Given the description of an element on the screen output the (x, y) to click on. 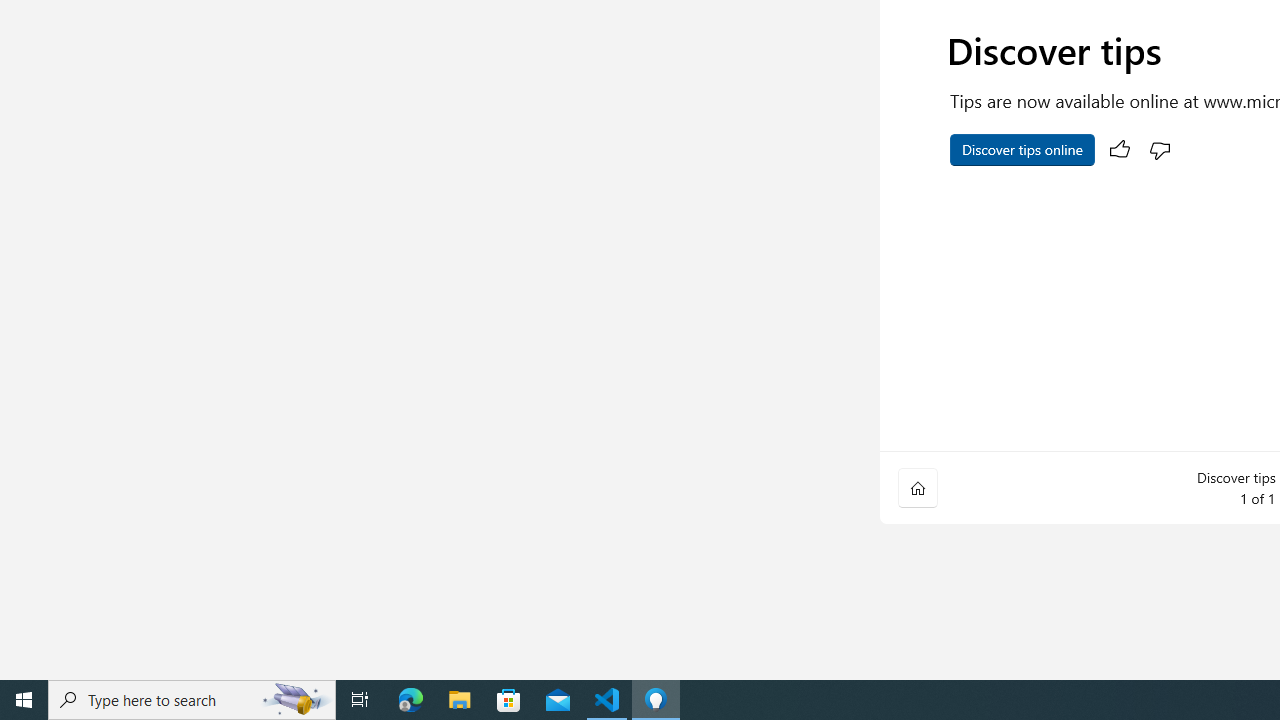
Discover tips online (1021, 149)
Rate this tip. This is helpful. (1119, 149)
Rate this tip. This is not helpful. (1160, 149)
Tips - 1 running window (656, 699)
